Given the description of an element on the screen output the (x, y) to click on. 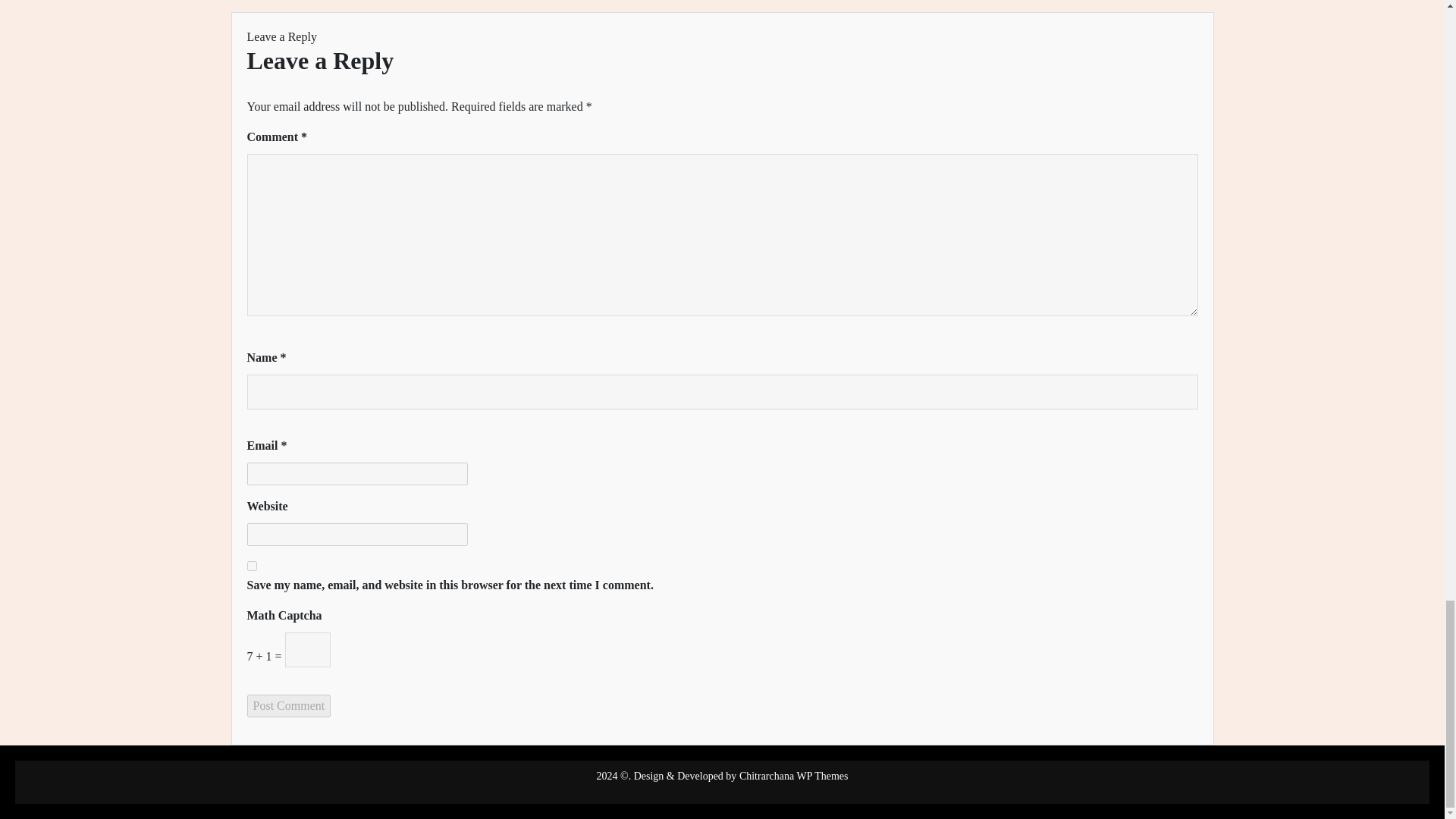
Chitrarchana WP Themes (791, 776)
yes (252, 565)
Post Comment (289, 705)
Post Comment (289, 705)
